Given the description of an element on the screen output the (x, y) to click on. 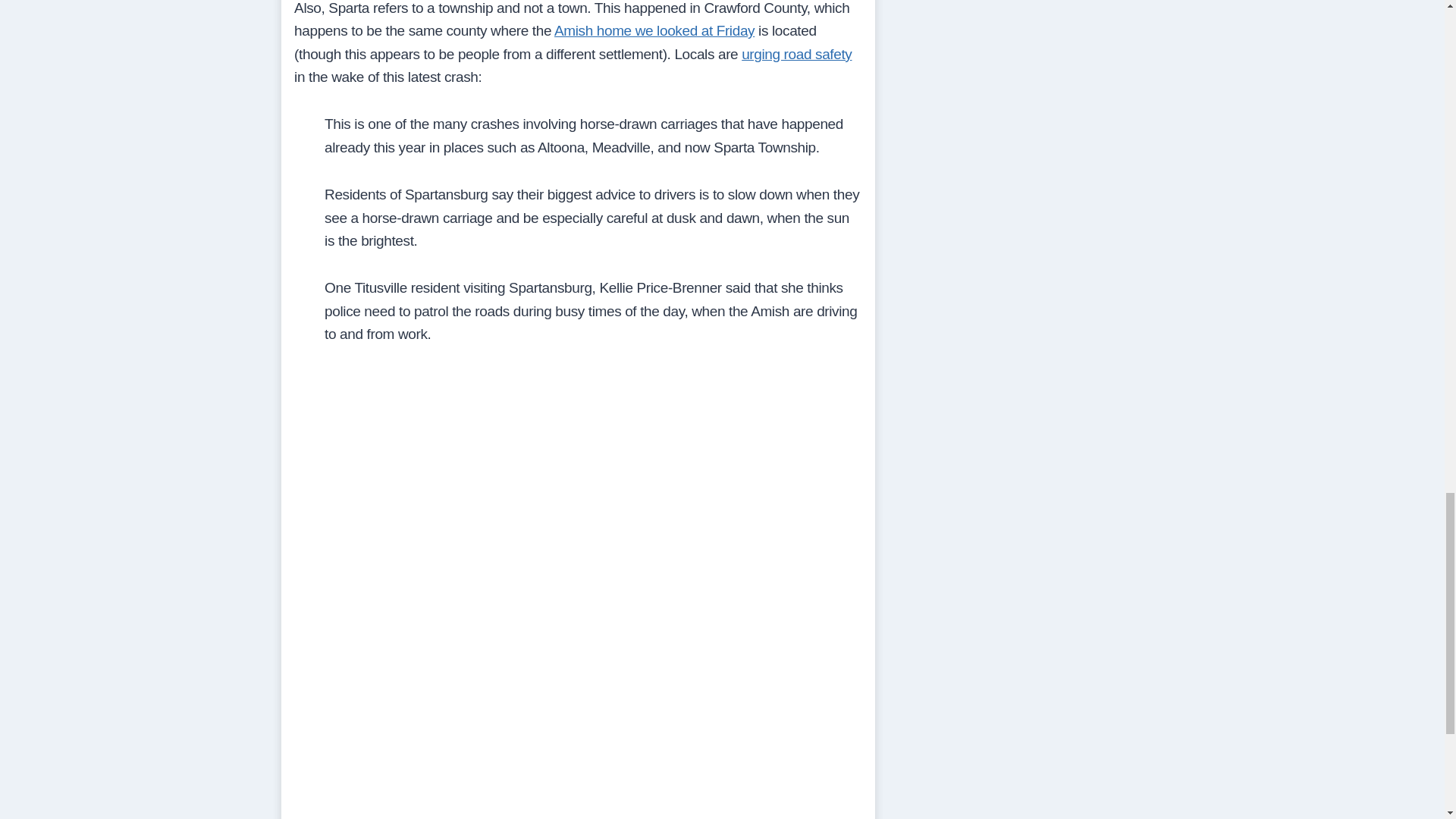
urging road safety (796, 53)
Amish home we looked at Friday (654, 30)
